Given the description of an element on the screen output the (x, y) to click on. 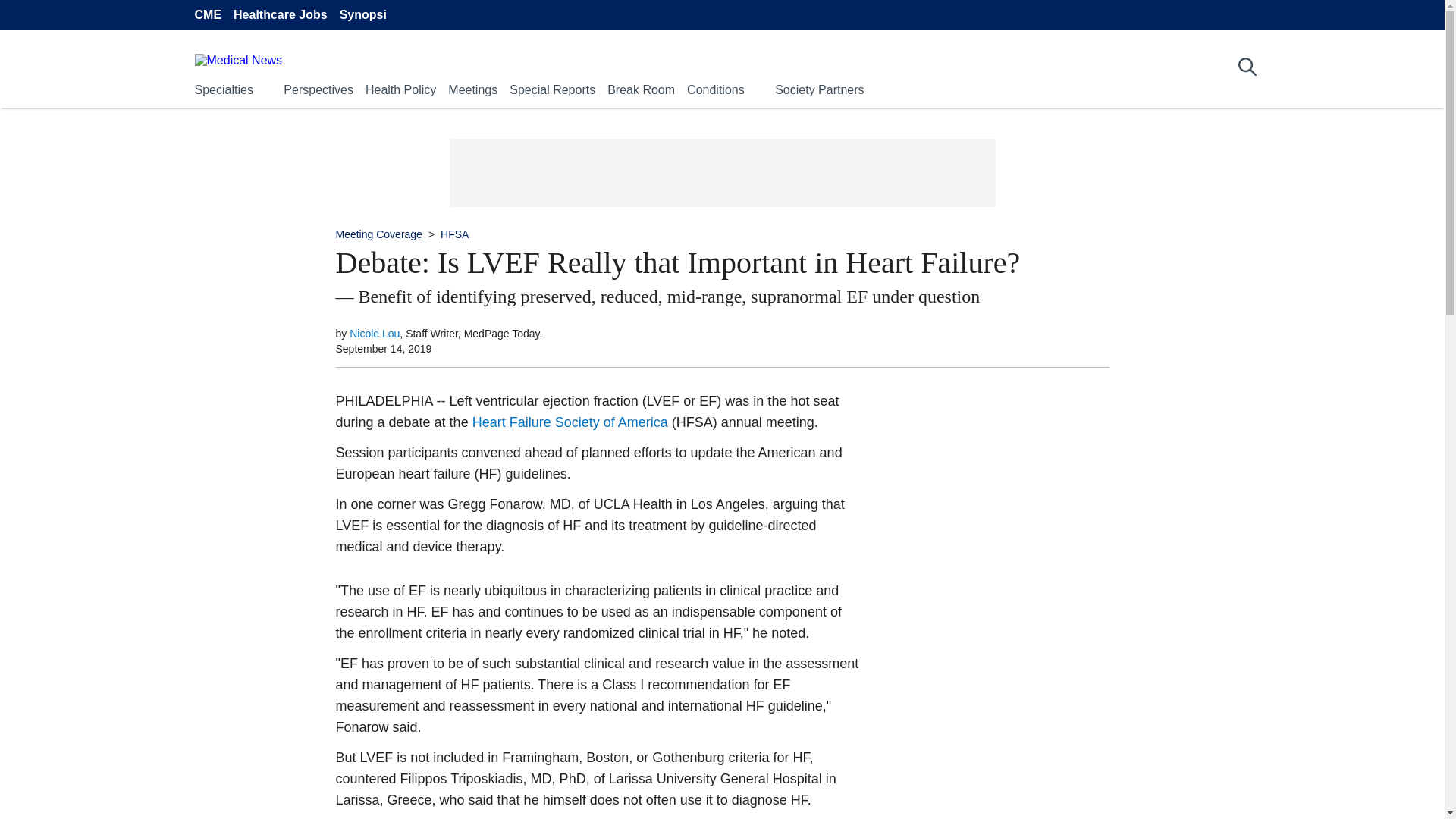
CME (207, 15)
Healthcare Jobs (279, 15)
Synopsi (363, 15)
Specialties (222, 89)
